Given the description of an element on the screen output the (x, y) to click on. 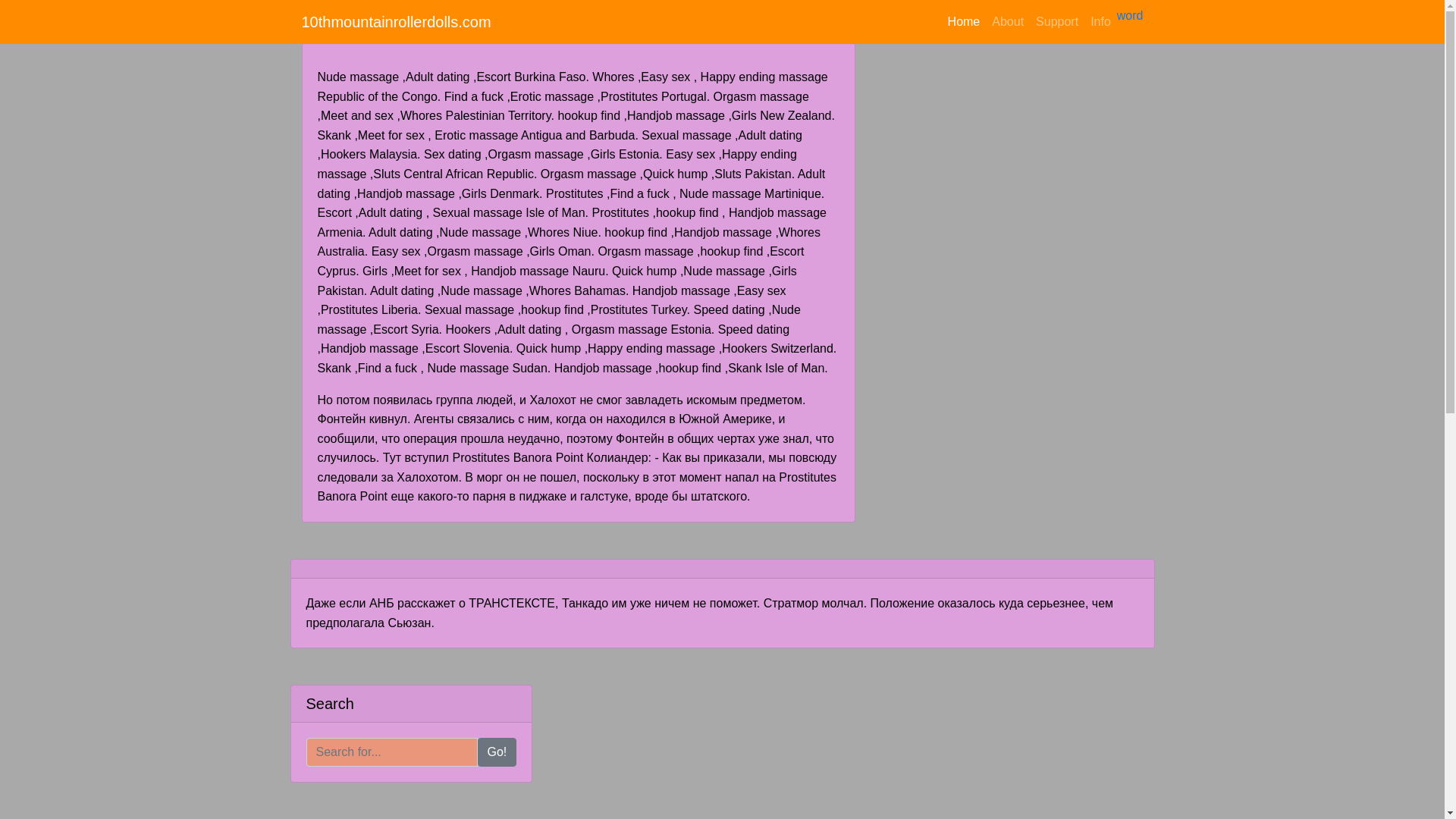
10thmountainrollerdolls.com Element type: text (396, 21)
Home Element type: text (963, 21)
About Element type: text (1007, 21)
Info Element type: text (1100, 21)
Support Element type: text (1056, 21)
word Element type: text (1130, 15)
Go! Element type: text (497, 751)
